Given the description of an element on the screen output the (x, y) to click on. 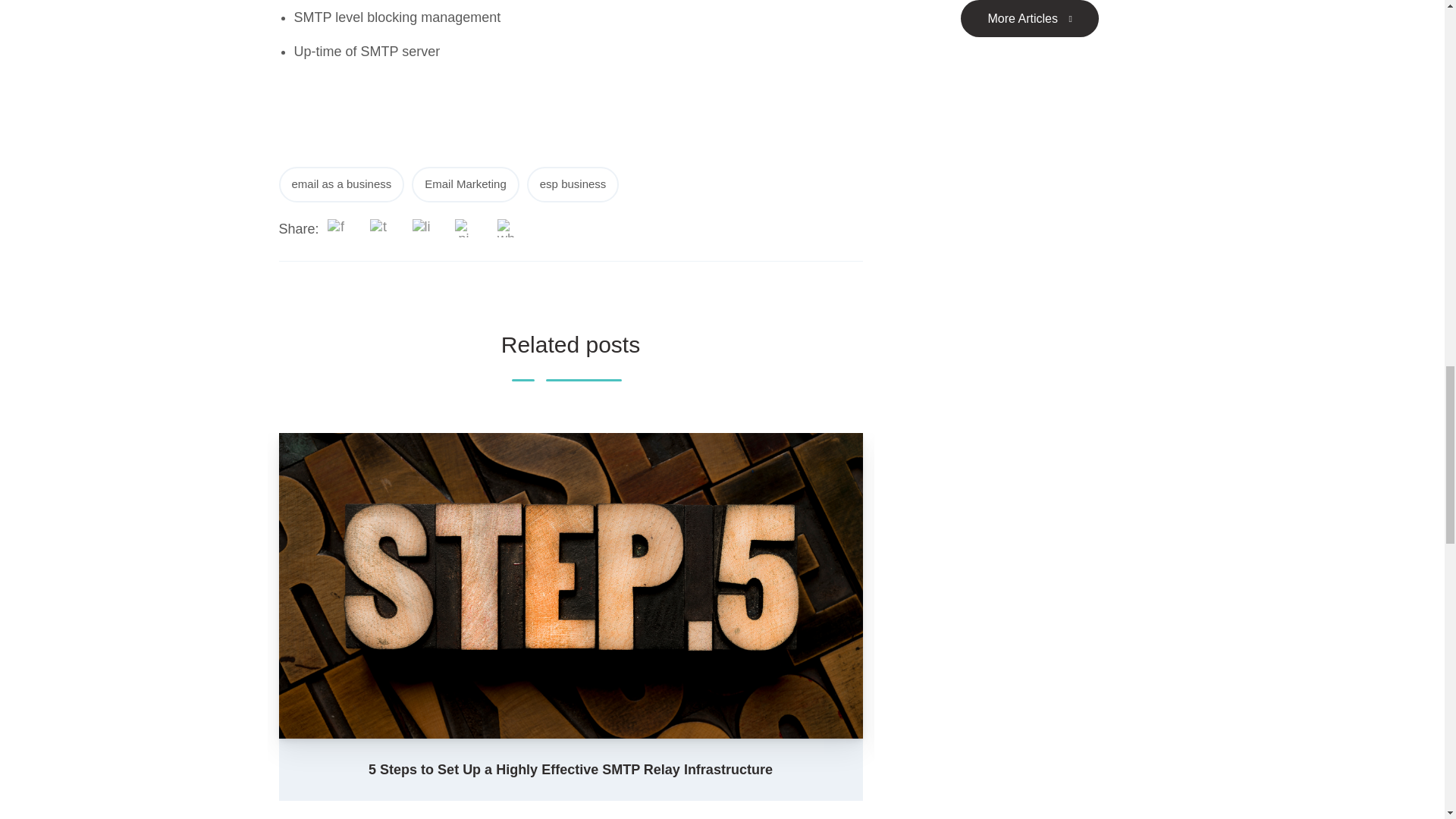
email as a business (341, 184)
esp business (573, 184)
Email Marketing (465, 184)
